Given the description of an element on the screen output the (x, y) to click on. 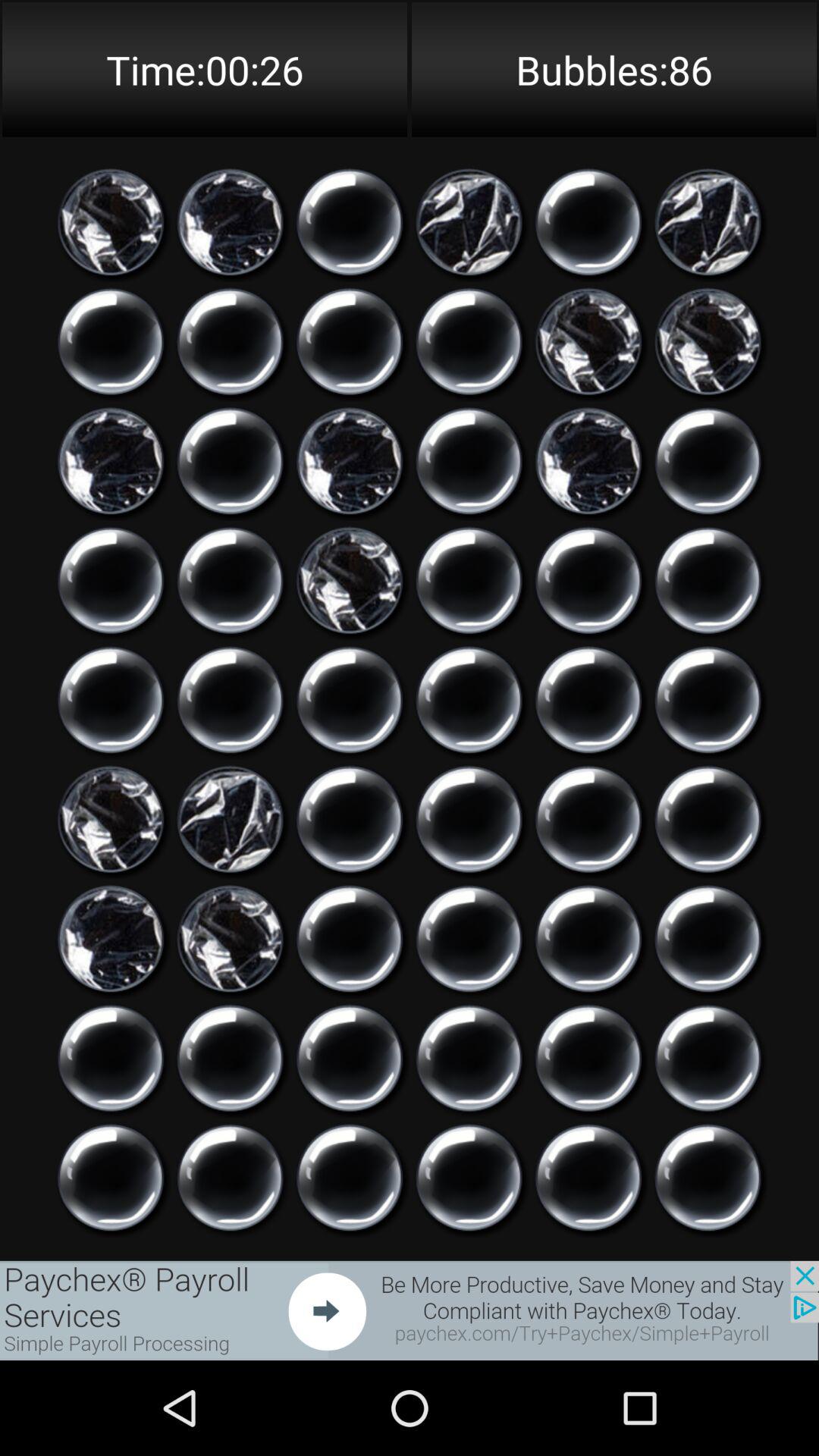
press the bubble (349, 222)
